Given the description of an element on the screen output the (x, y) to click on. 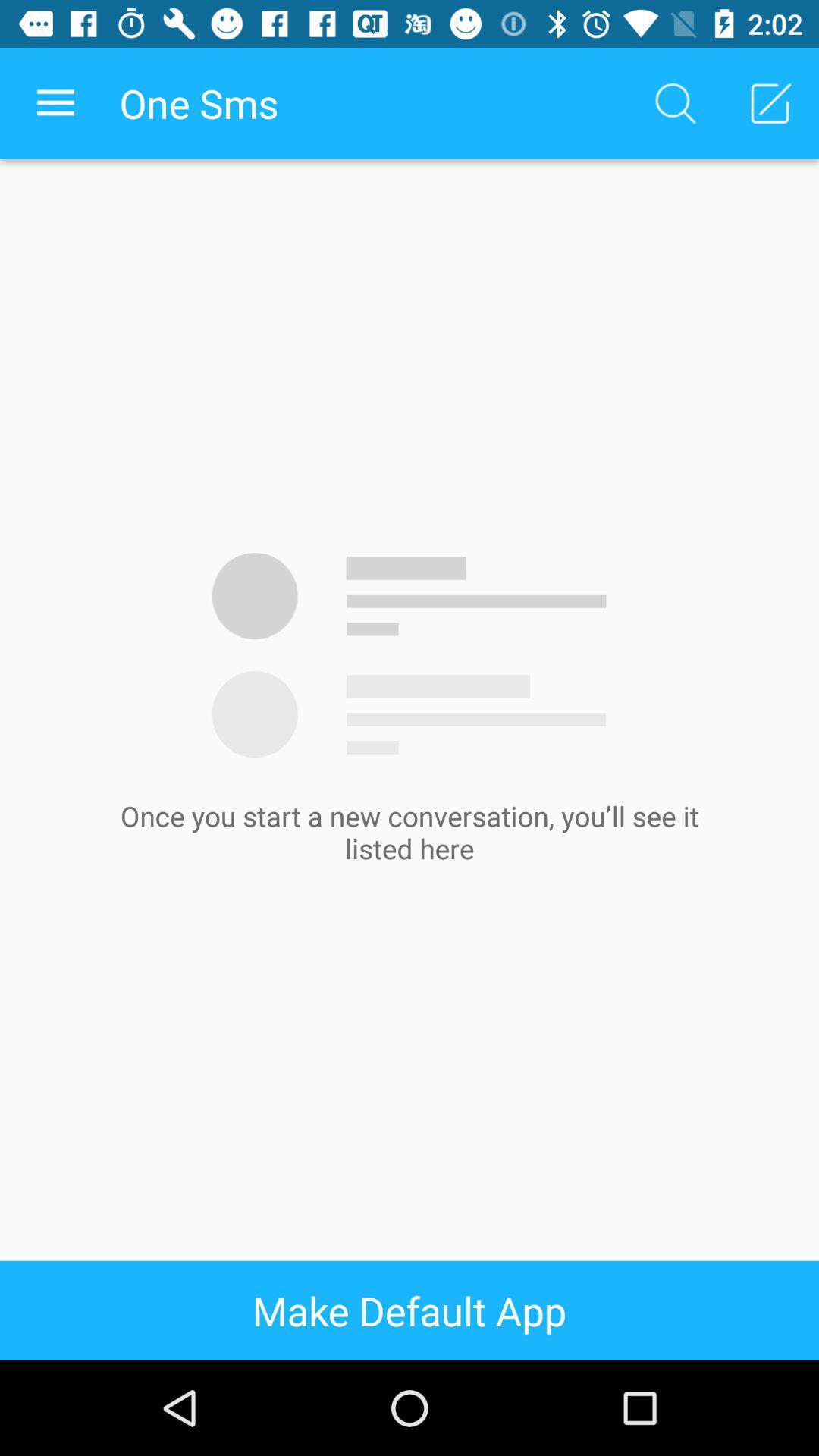
open the app to the left of the one sms icon (55, 103)
